Given the description of an element on the screen output the (x, y) to click on. 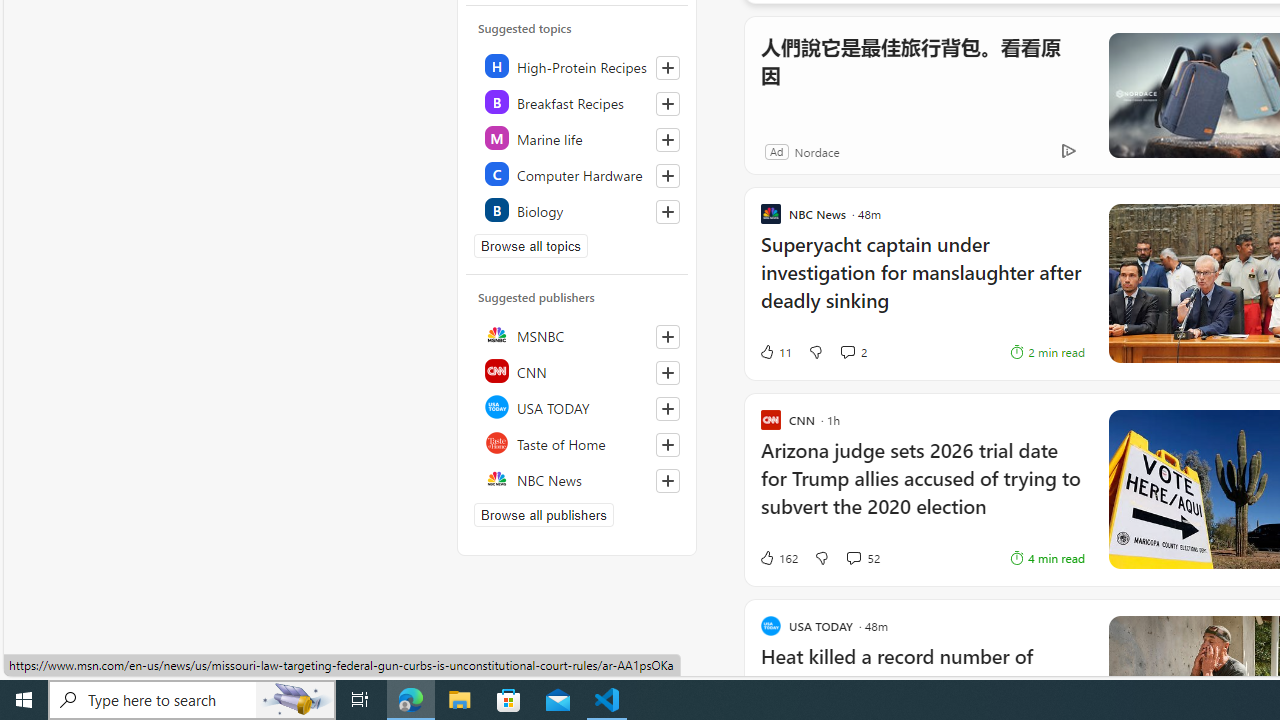
162 Like (778, 557)
Browse all publishers (543, 515)
Class: highlight (578, 209)
Taste of Home (578, 442)
11 Like (775, 351)
